Given the description of an element on the screen output the (x, y) to click on. 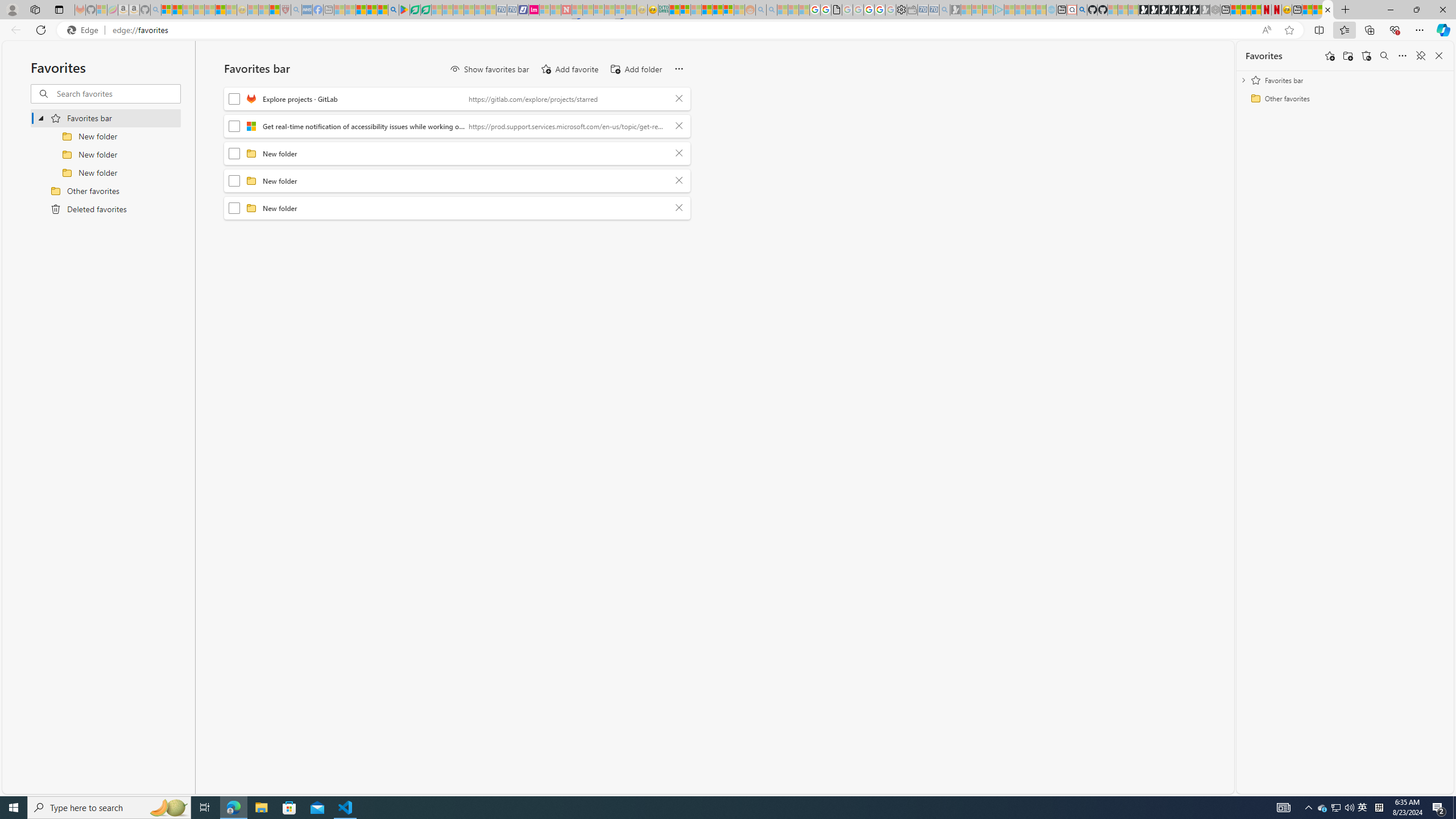
Microsoft account | Privacy (685, 9)
Pets - MSN (371, 9)
Local - MSN (274, 9)
google - Search (392, 9)
Utah sues federal government - Search - Sleeping (771, 9)
Microsoft Start - Sleeping (1030, 9)
Expert Portfolios (707, 9)
github - Search (1081, 9)
